Given the description of an element on the screen output the (x, y) to click on. 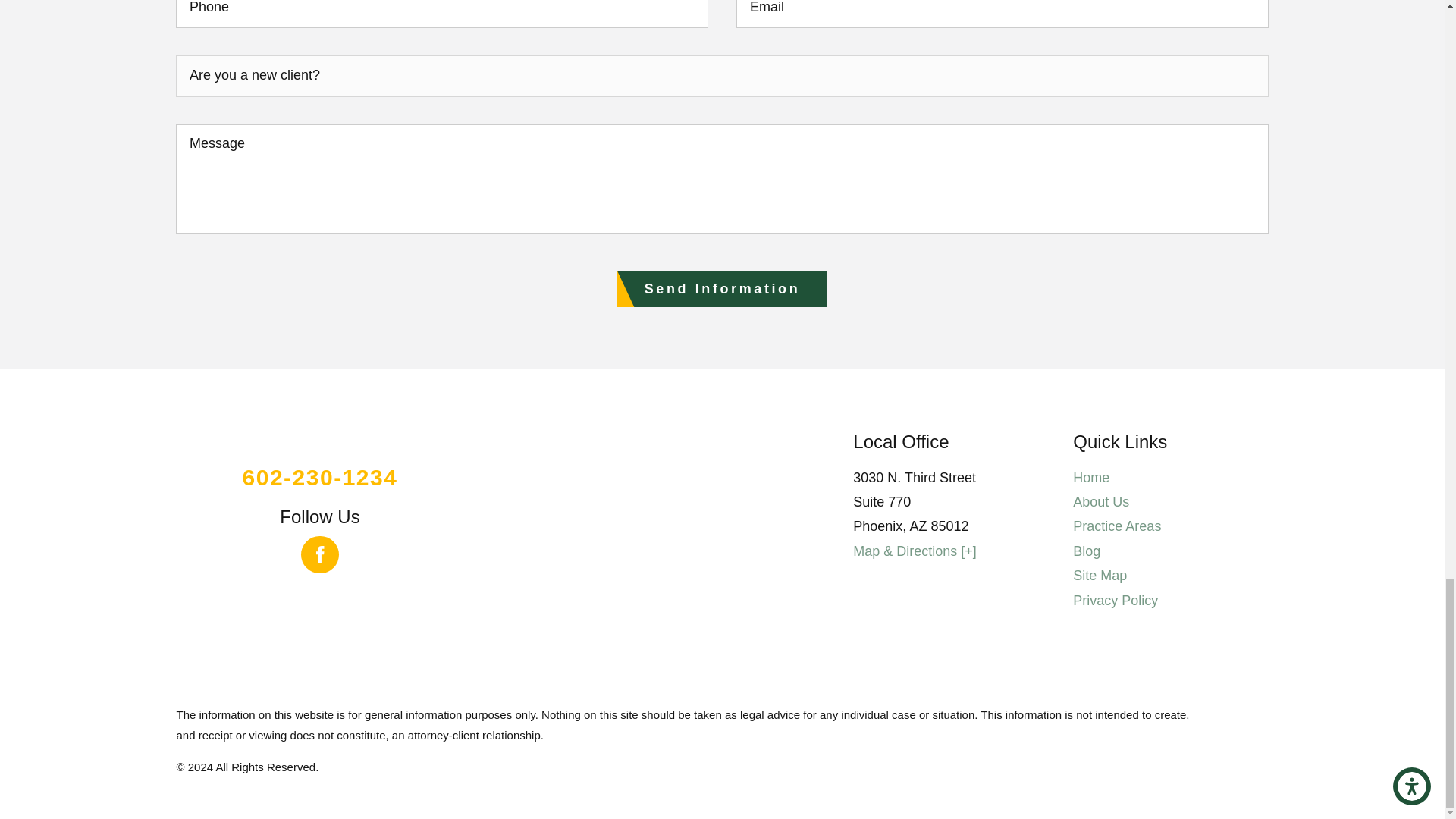
Facebook (320, 555)
